Given the description of an element on the screen output the (x, y) to click on. 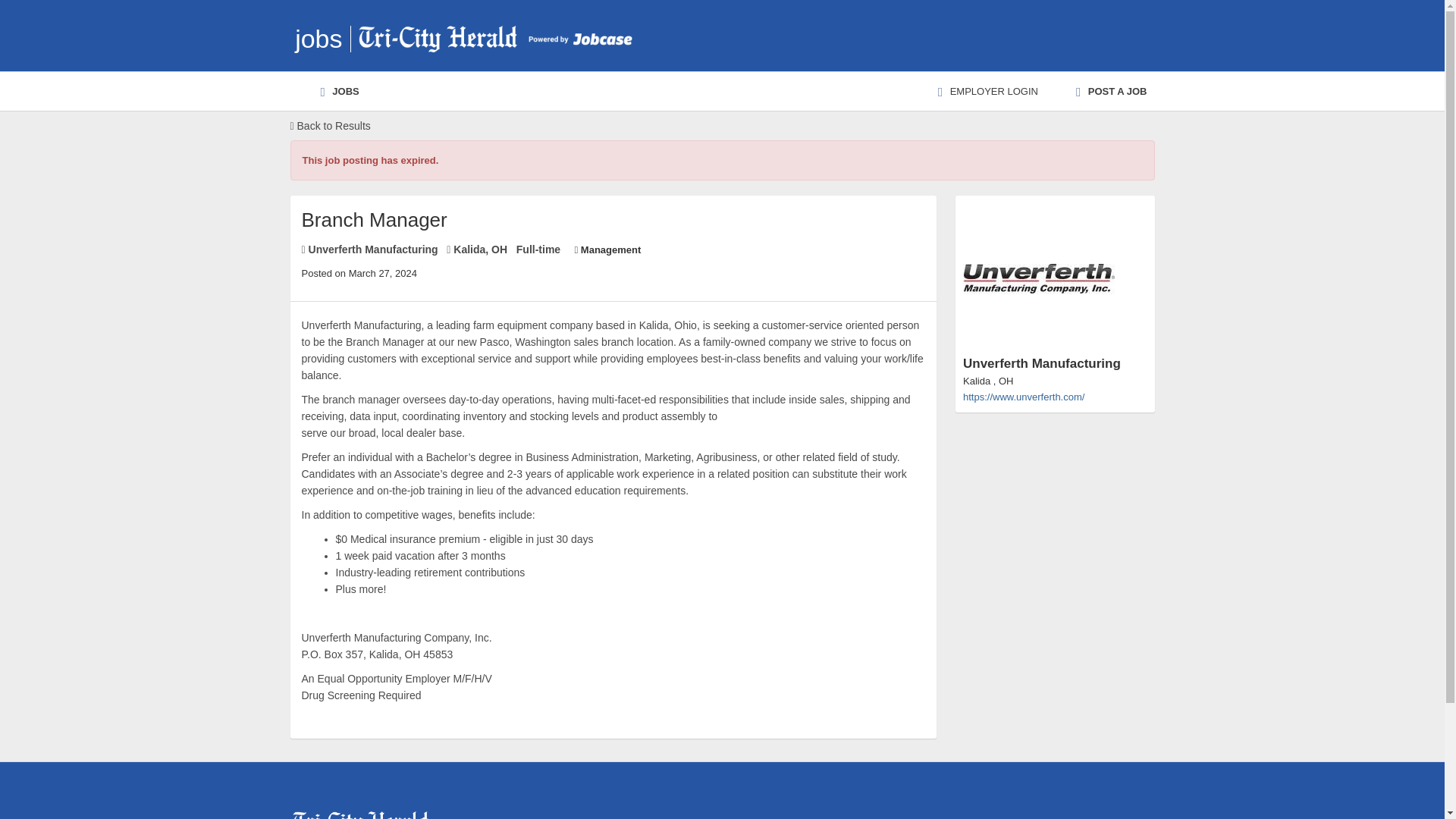
Unverferth Manufacturing (1054, 294)
POST A JOB (1111, 91)
Back to Results (329, 125)
EMPLOYER LOGIN (988, 91)
JOBS (339, 91)
jobs (318, 38)
